Given the description of an element on the screen output the (x, y) to click on. 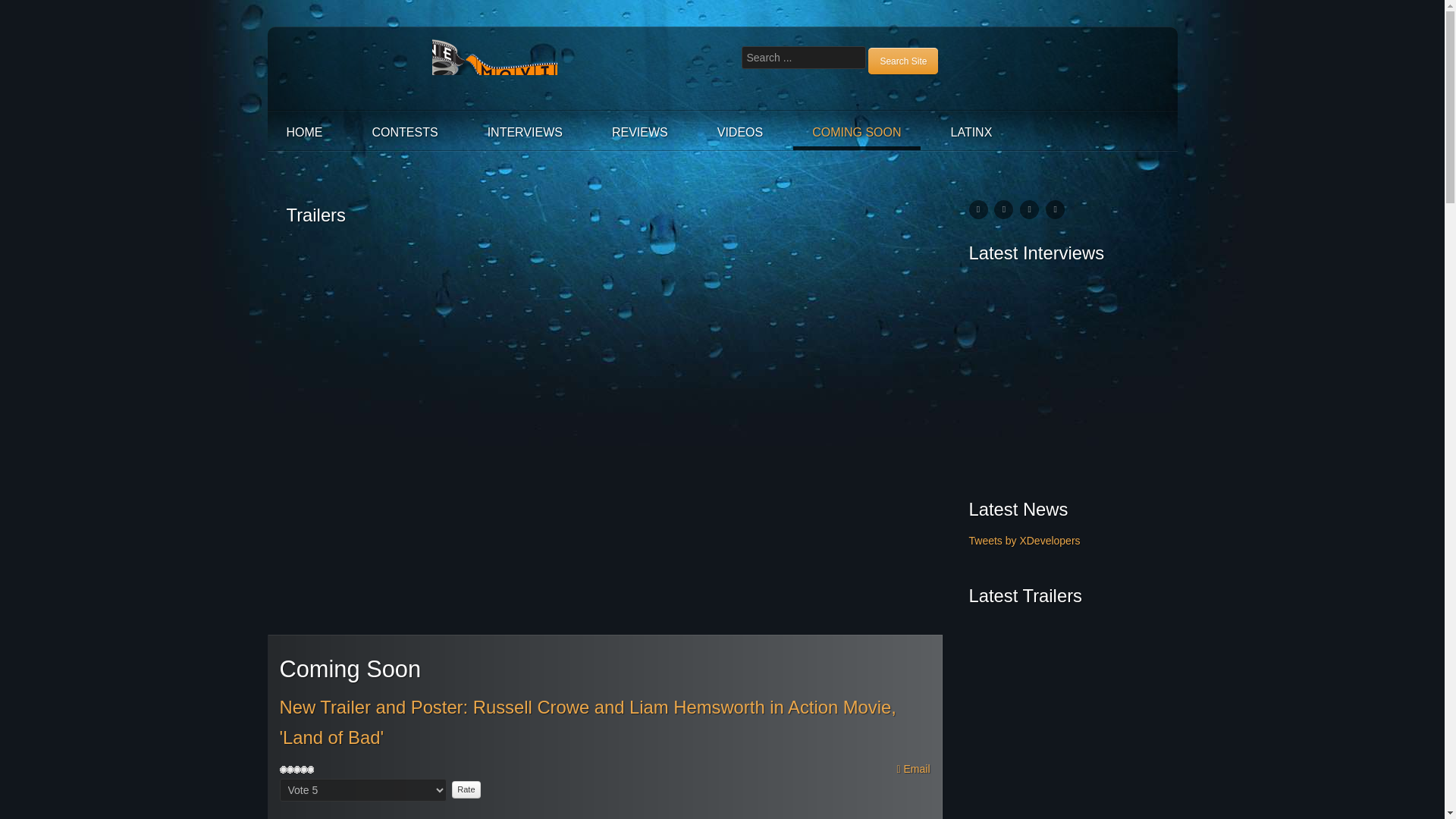
Coming Soon (363, 818)
Email (913, 769)
Tweets by XDevelopers (1024, 540)
REVIEWS (639, 131)
Rate (465, 789)
Email this link to a friend (913, 769)
LATINX (971, 131)
Rate (465, 789)
COMING SOON (856, 131)
INTERVIEWS (524, 131)
Search Site (902, 60)
CONTESTS (405, 131)
VIDEOS (739, 131)
